Given the description of an element on the screen output the (x, y) to click on. 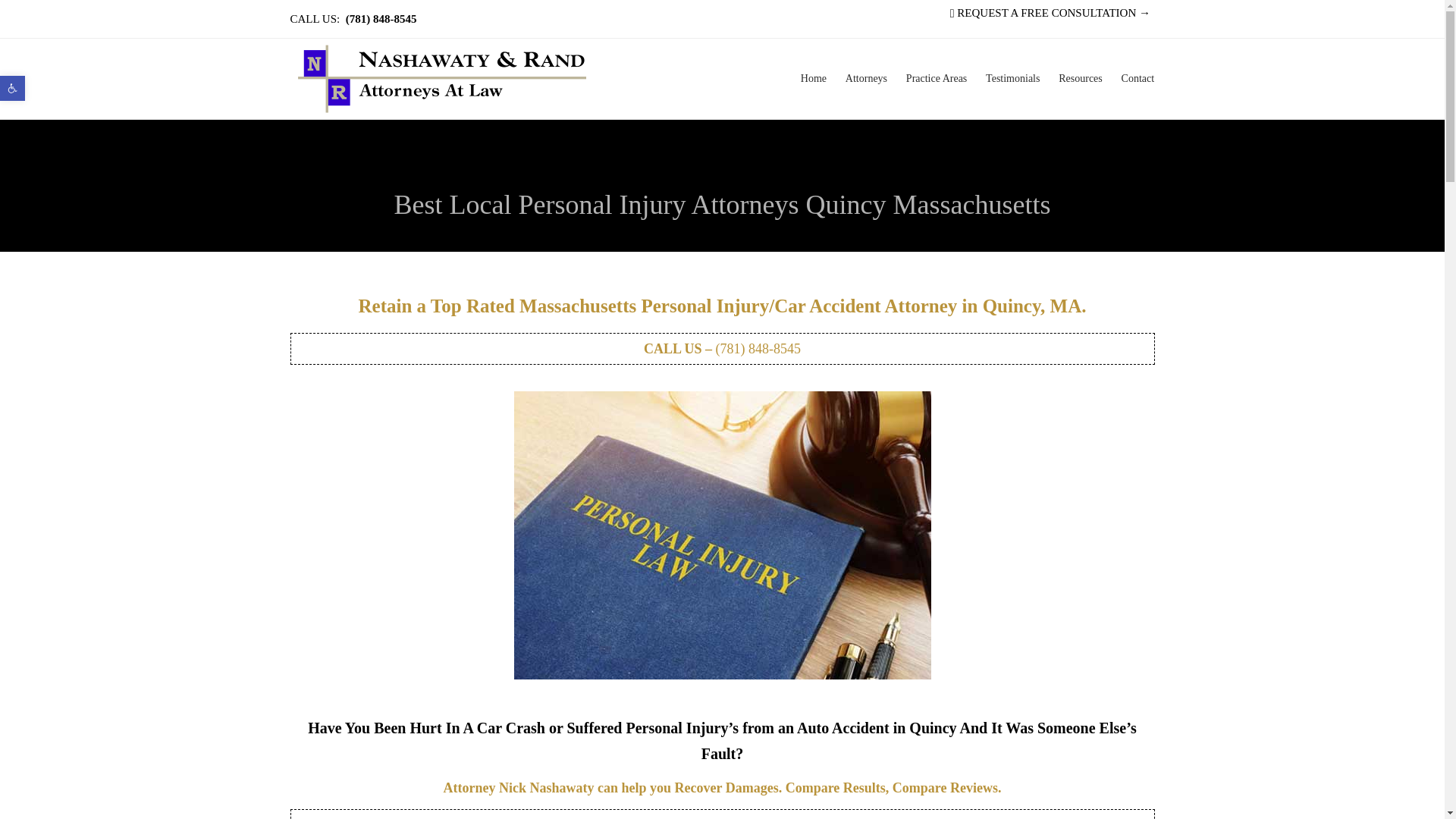
Accessibility Tools (12, 88)
Light Background (12, 88)
